Given the description of an element on the screen output the (x, y) to click on. 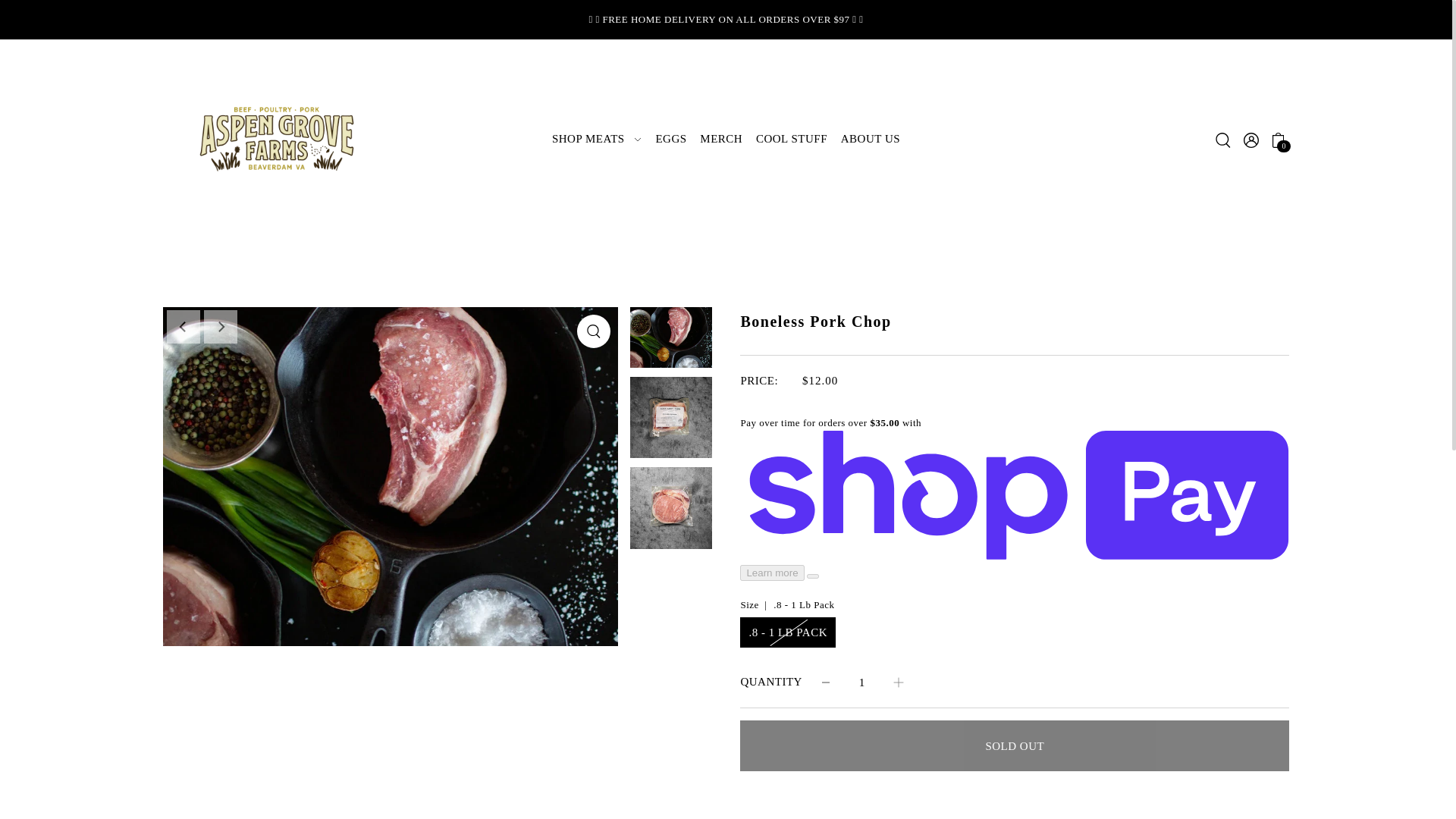
COOL STUFF (791, 138)
1 (862, 682)
click to zoom-in (593, 331)
SOLD OUT (1013, 745)
ABOUT US (870, 138)
SHOP MEATS (596, 138)
0 (1277, 138)
MERCH (721, 138)
EGGS (671, 138)
